Given the description of an element on the screen output the (x, y) to click on. 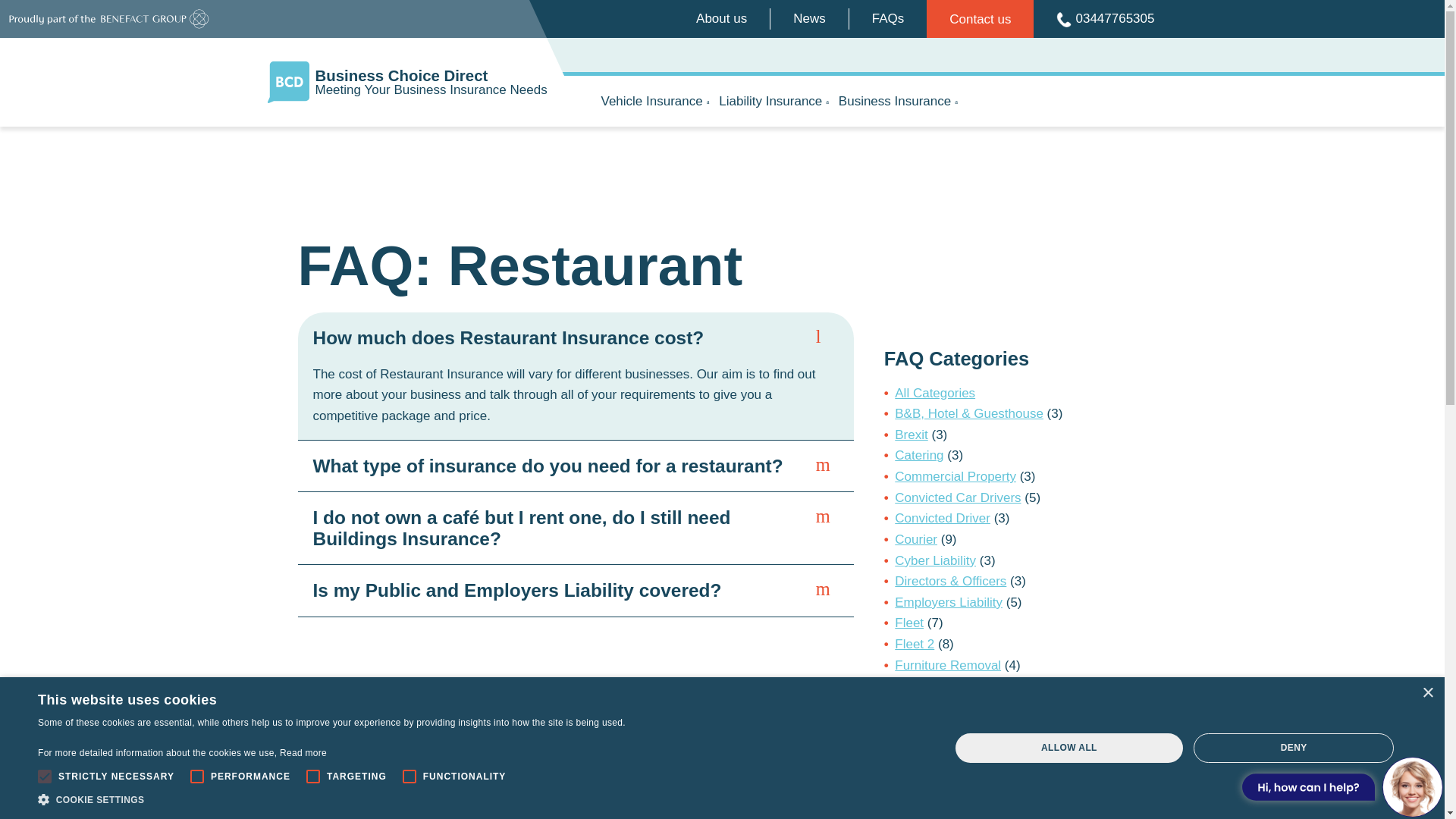
Business Insurance (898, 101)
About us (721, 18)
FAQs (887, 18)
Contact us (979, 18)
News (809, 18)
Vehicle Insurance (654, 101)
Liability Insurance (773, 101)
03447765305 (439, 81)
